Given the description of an element on the screen output the (x, y) to click on. 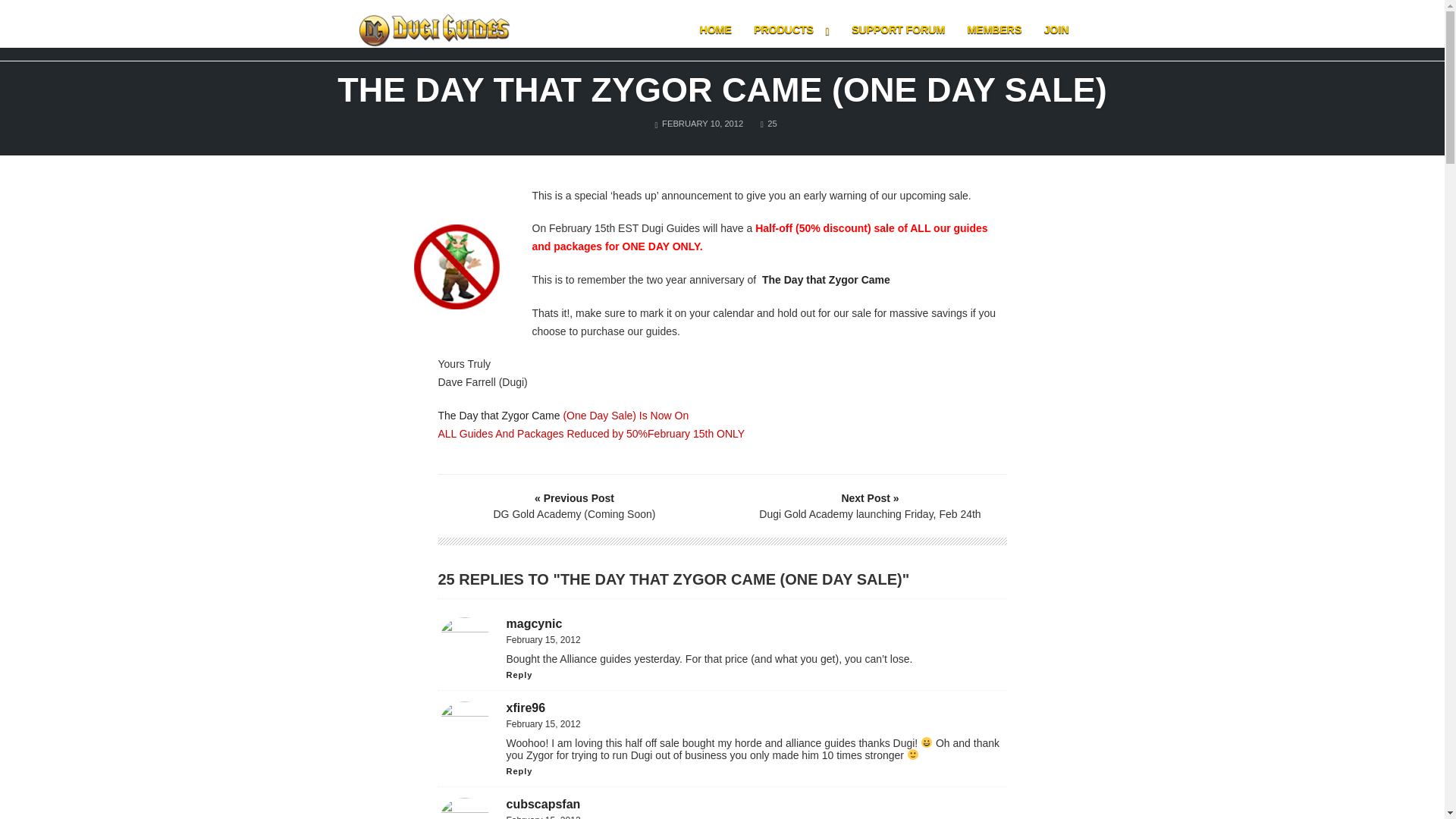
Dugi Gold Academy launching Friday, Feb 24th (869, 505)
SUPPORT FORUM (898, 29)
JOIN (1056, 29)
MEMBERS (994, 29)
Reply (519, 770)
Dugi Guides - World of Warcraft Level Guides 2010 - 2024 (433, 29)
The Day that Zygor Came (499, 415)
HOME (715, 29)
PRODUCTS (791, 29)
The Day that Zygor Came (825, 279)
capture (454, 264)
Reply (768, 122)
